Given the description of an element on the screen output the (x, y) to click on. 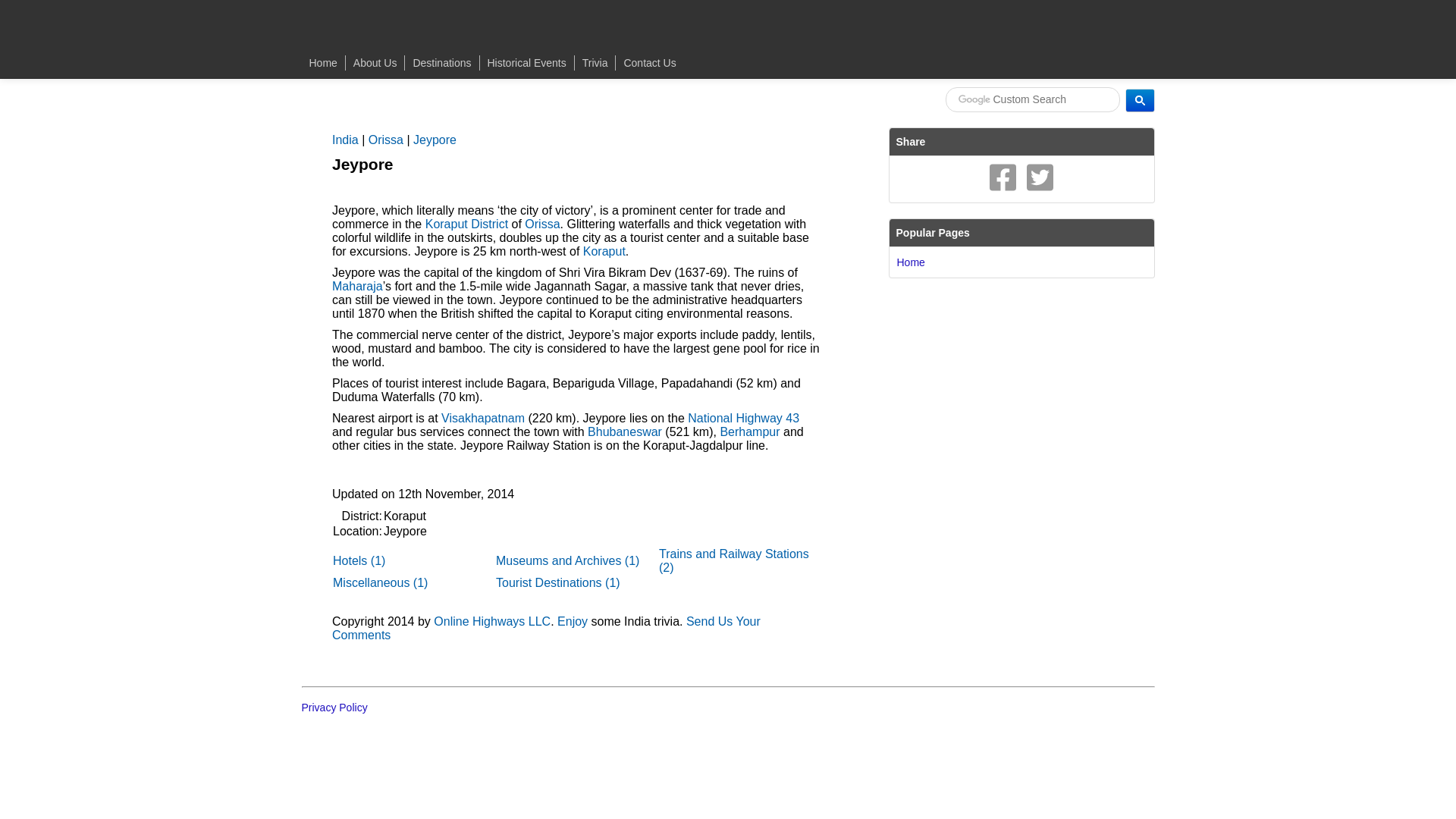
National Highway 43 (743, 418)
search (1139, 99)
Orissa (385, 139)
Maharaja (356, 286)
Home (322, 62)
Bhubaneswar (625, 431)
Orissa (541, 223)
Koraput District (466, 223)
Jeypore (435, 139)
About Us (375, 62)
